Given the description of an element on the screen output the (x, y) to click on. 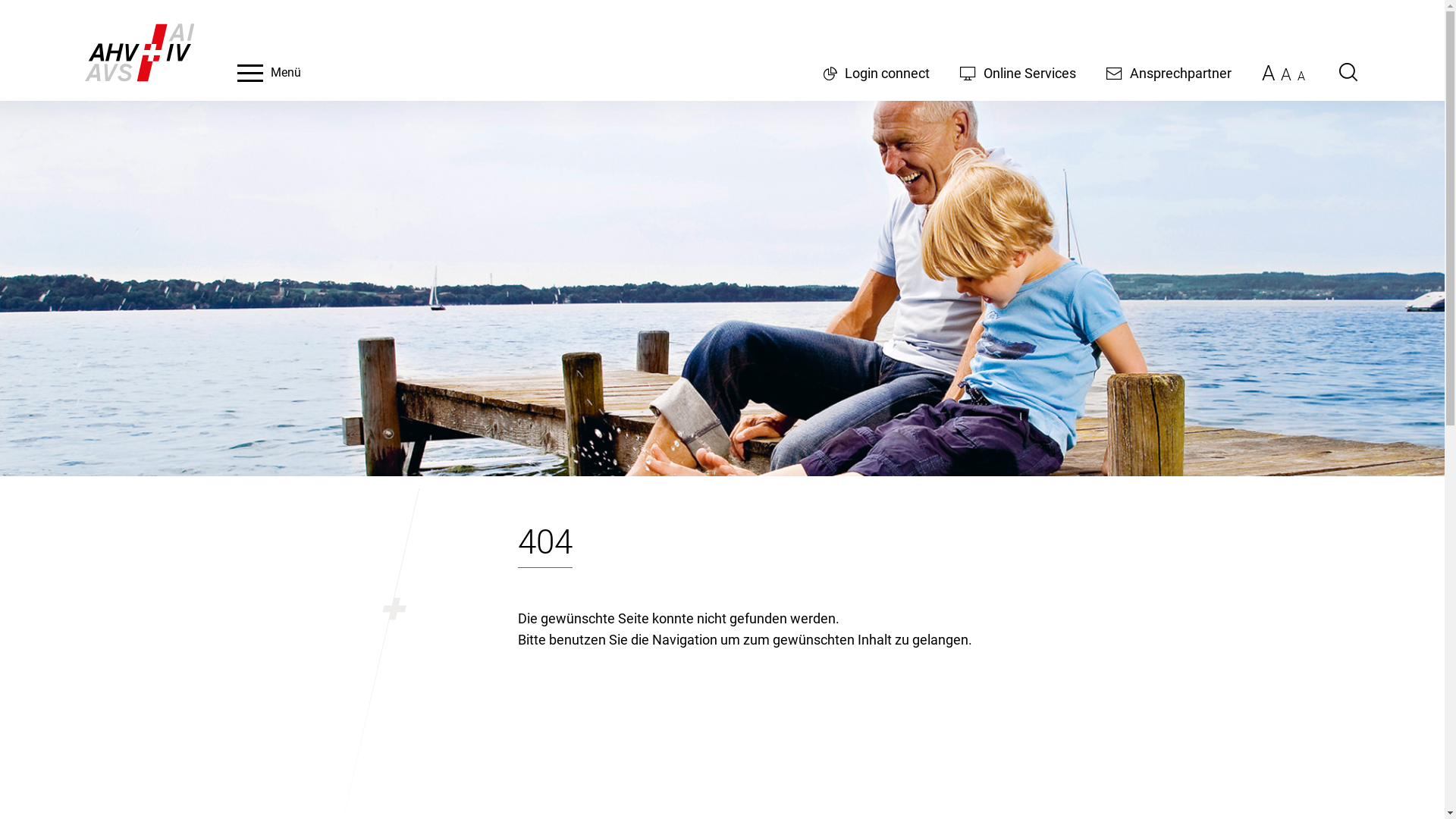
Login connect Element type: text (876, 73)
A Element type: text (1300, 76)
A Element type: text (1285, 74)
A Element type: text (1267, 72)
Online Services Element type: text (1018, 73)
Ansprechpartner Element type: text (1167, 73)
